Given the description of an element on the screen output the (x, y) to click on. 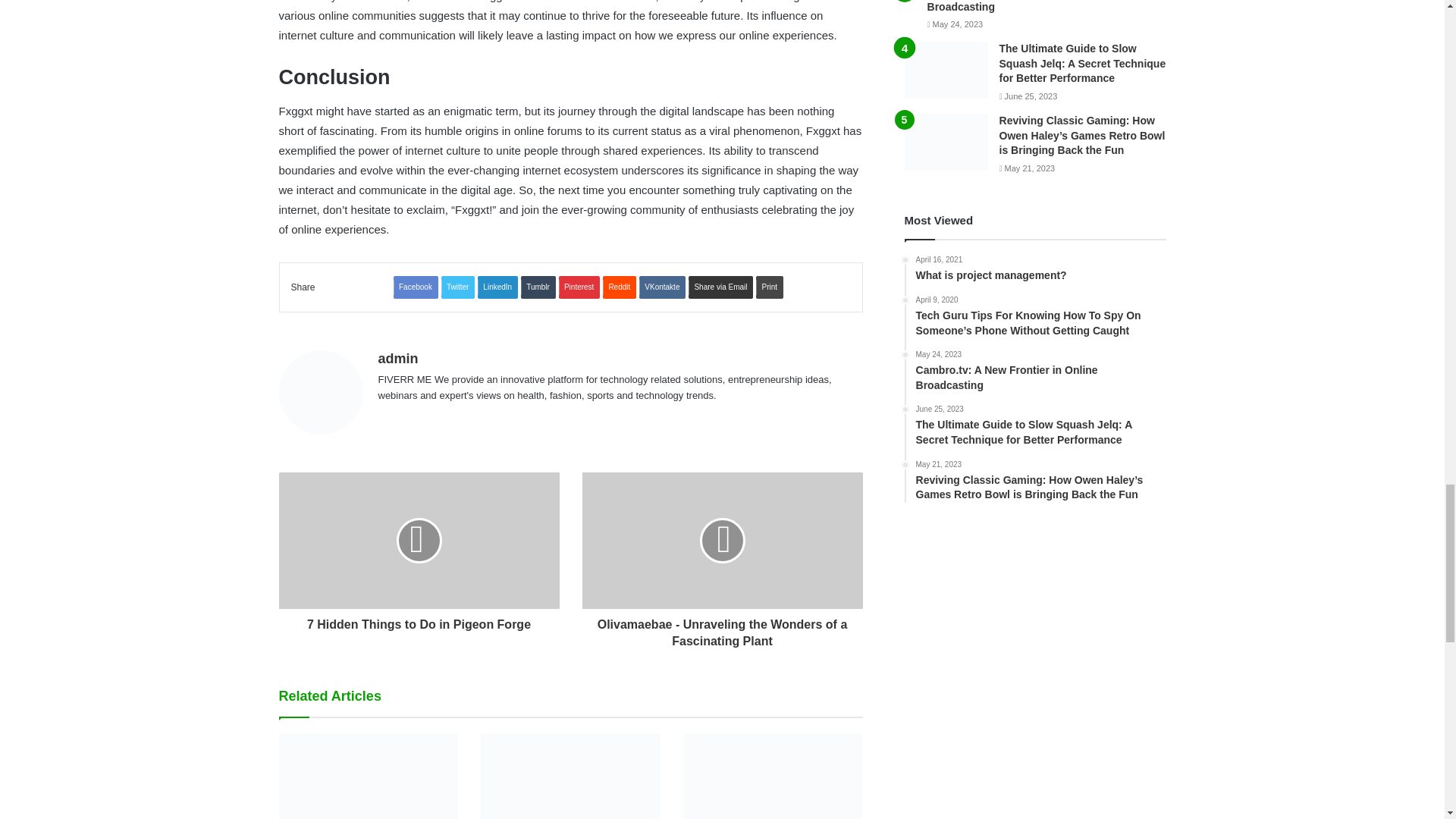
Twitter (457, 287)
Facebook (415, 287)
LinkedIn (497, 287)
Tumblr (538, 287)
